Given the description of an element on the screen output the (x, y) to click on. 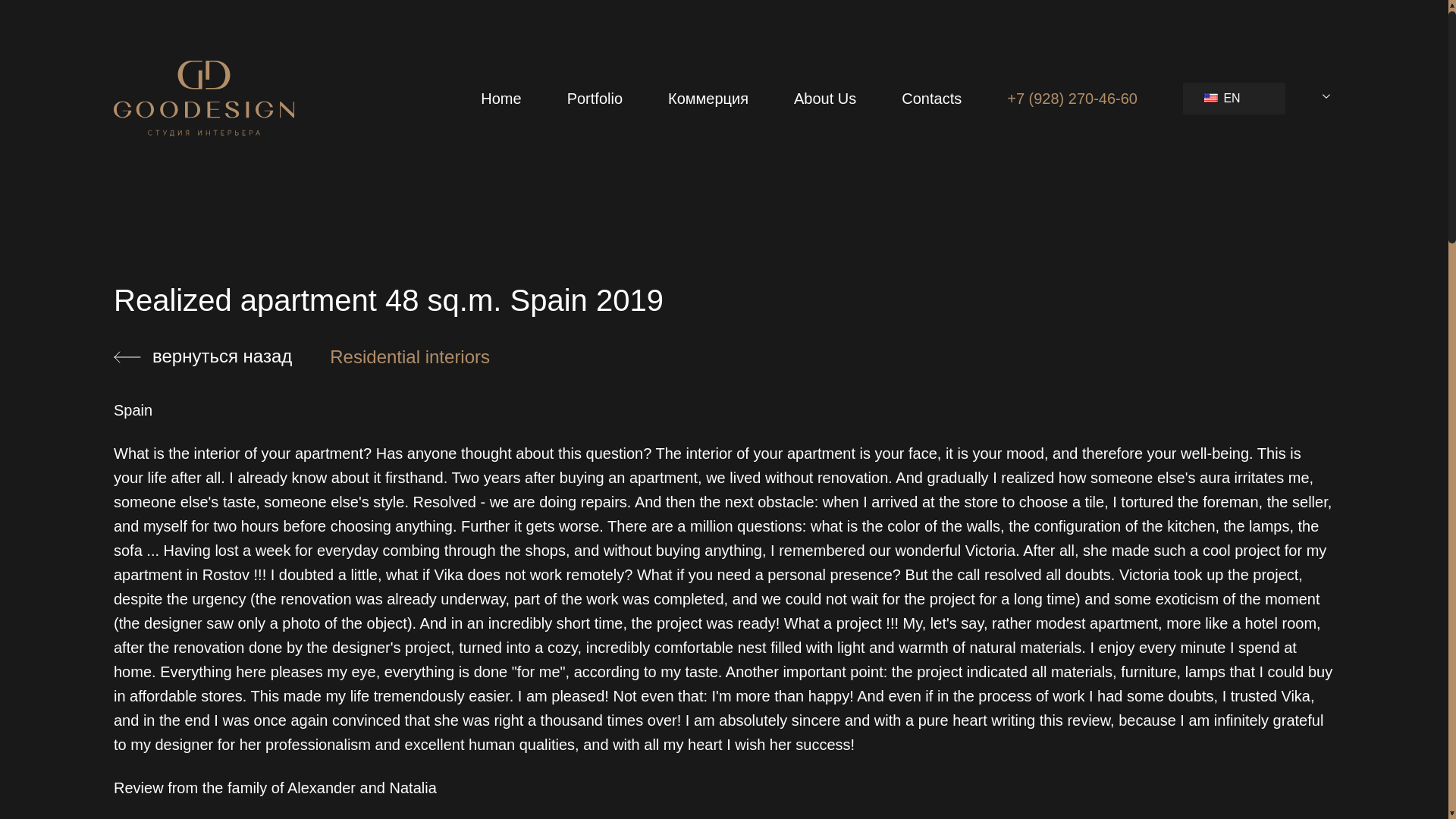
About Us (828, 98)
Contacts (935, 98)
English (1236, 98)
EN (1239, 98)
English (1210, 97)
Portfolio (600, 98)
Home (509, 98)
